Given the description of an element on the screen output the (x, y) to click on. 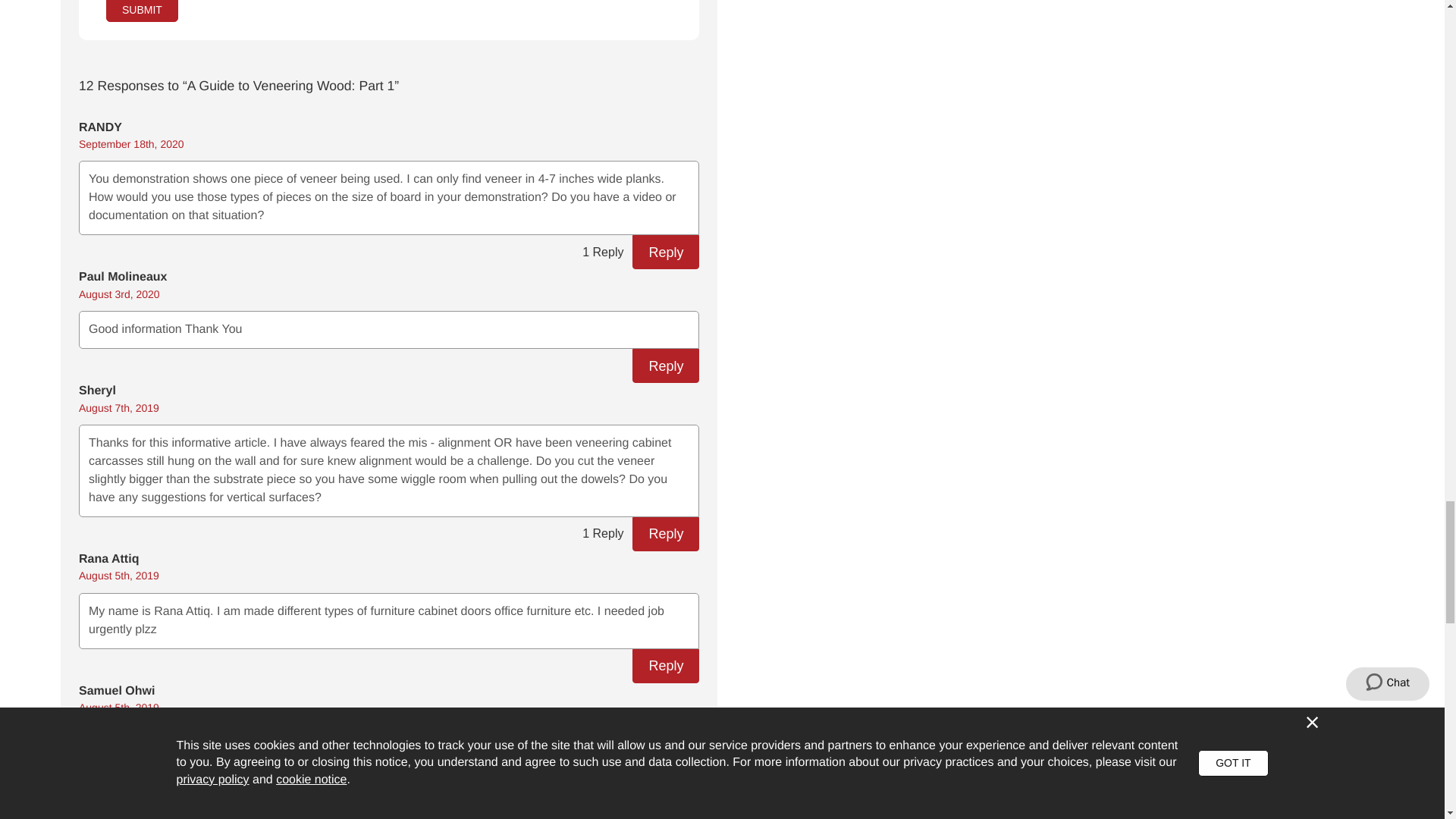
Reply (664, 533)
Reply (664, 252)
Submit (141, 11)
Submit (141, 11)
1 Reply (602, 533)
Reply (664, 365)
1 Reply (602, 252)
